Given the description of an element on the screen output the (x, y) to click on. 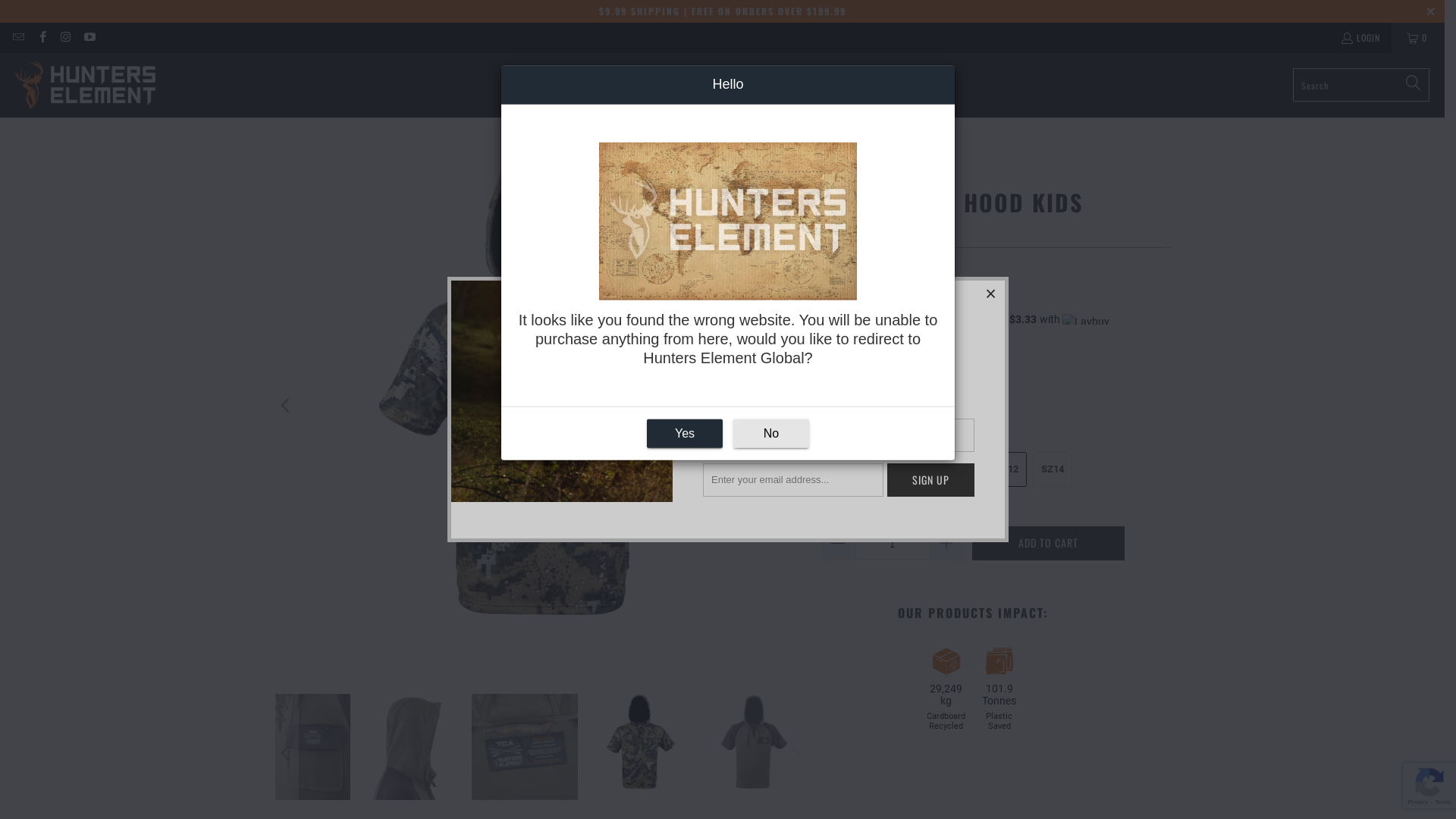
Sign Up Element type: text (930, 479)
Email Hunters Element Australia Element type: hover (17, 37)
Close Element type: hover (990, 293)
0 Element type: text (1417, 37)
Hunters Element Australia on Instagram Element type: hover (65, 37)
Hunters Element Australia on YouTube Element type: hover (88, 37)
No Element type: text (771, 433)
LOGIN Element type: text (1359, 37)
HOME Element type: text (557, 84)
CAREERS Element type: text (882, 84)
Yes Element type: text (684, 433)
Hunters Element Australia Element type: hover (85, 84)
Hunters Element Australia on Facebook Element type: hover (40, 37)
ADD TO CART Element type: text (1048, 543)
